Given the description of an element on the screen output the (x, y) to click on. 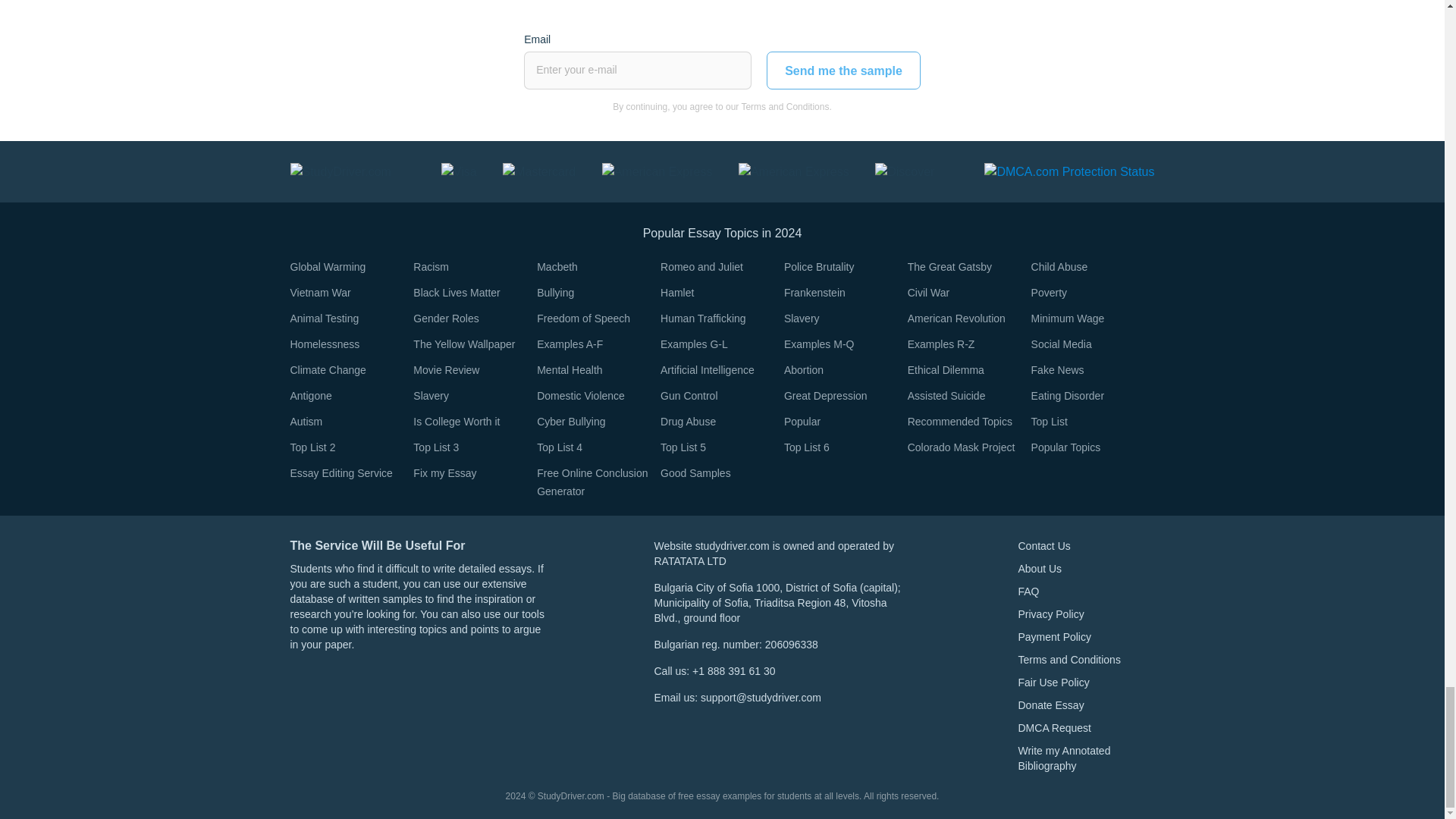
DMCA.com Protection Status (1069, 170)
